Given the description of an element on the screen output the (x, y) to click on. 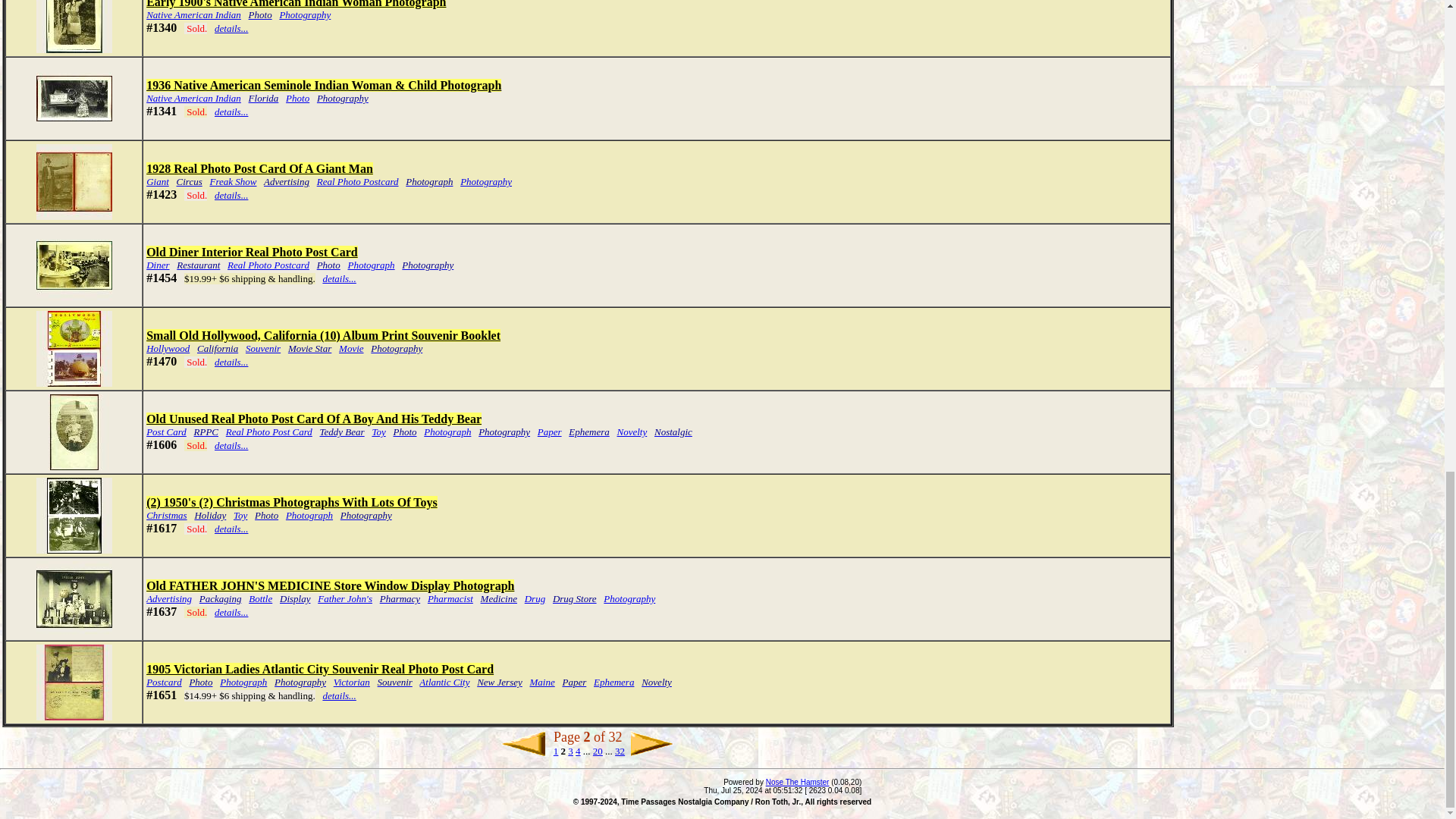
previous page (522, 743)
next page (652, 743)
